Given the description of an element on the screen output the (x, y) to click on. 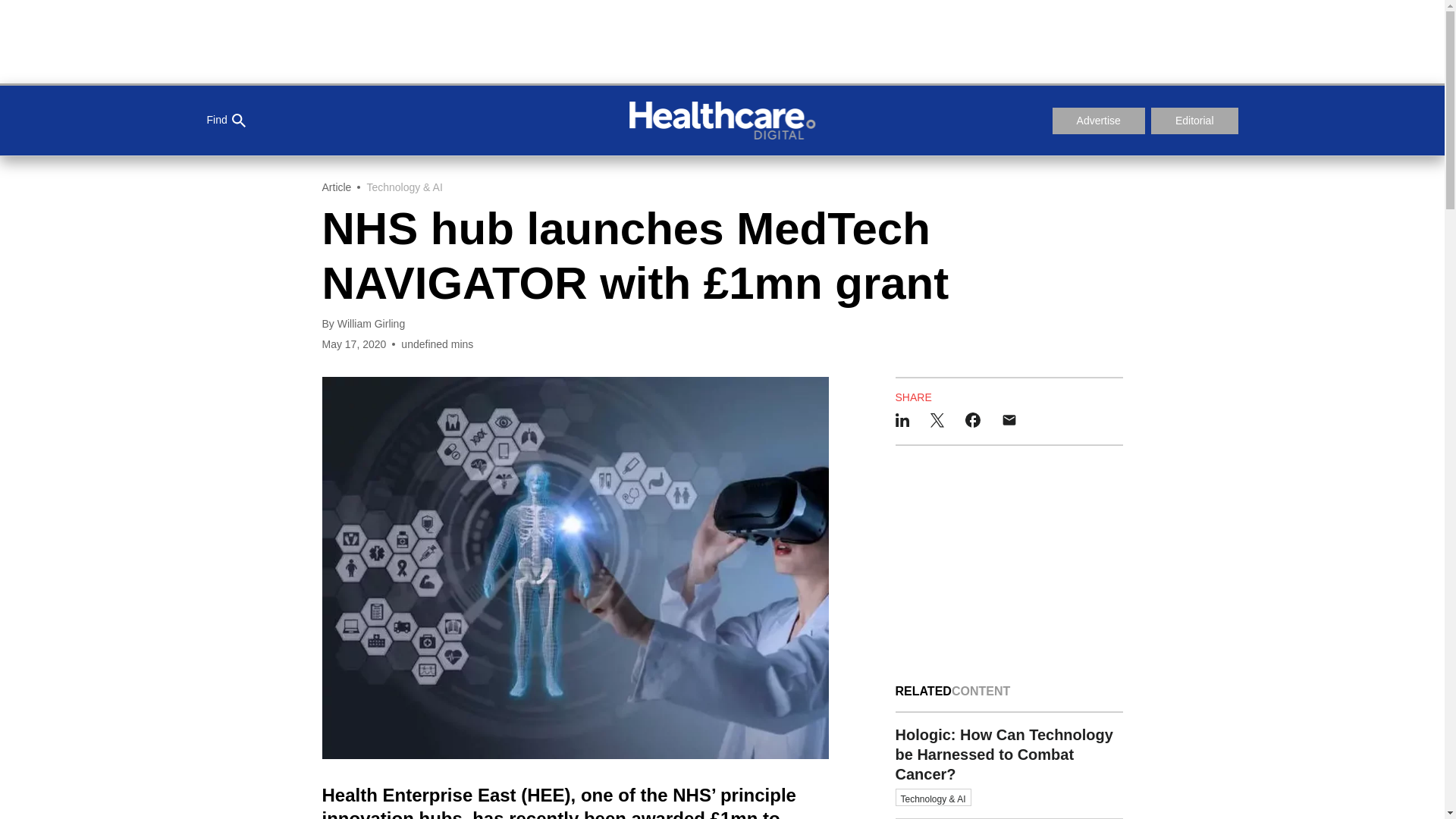
Editorial (1195, 121)
Advertise (1098, 121)
Find (225, 120)
